Given the description of an element on the screen output the (x, y) to click on. 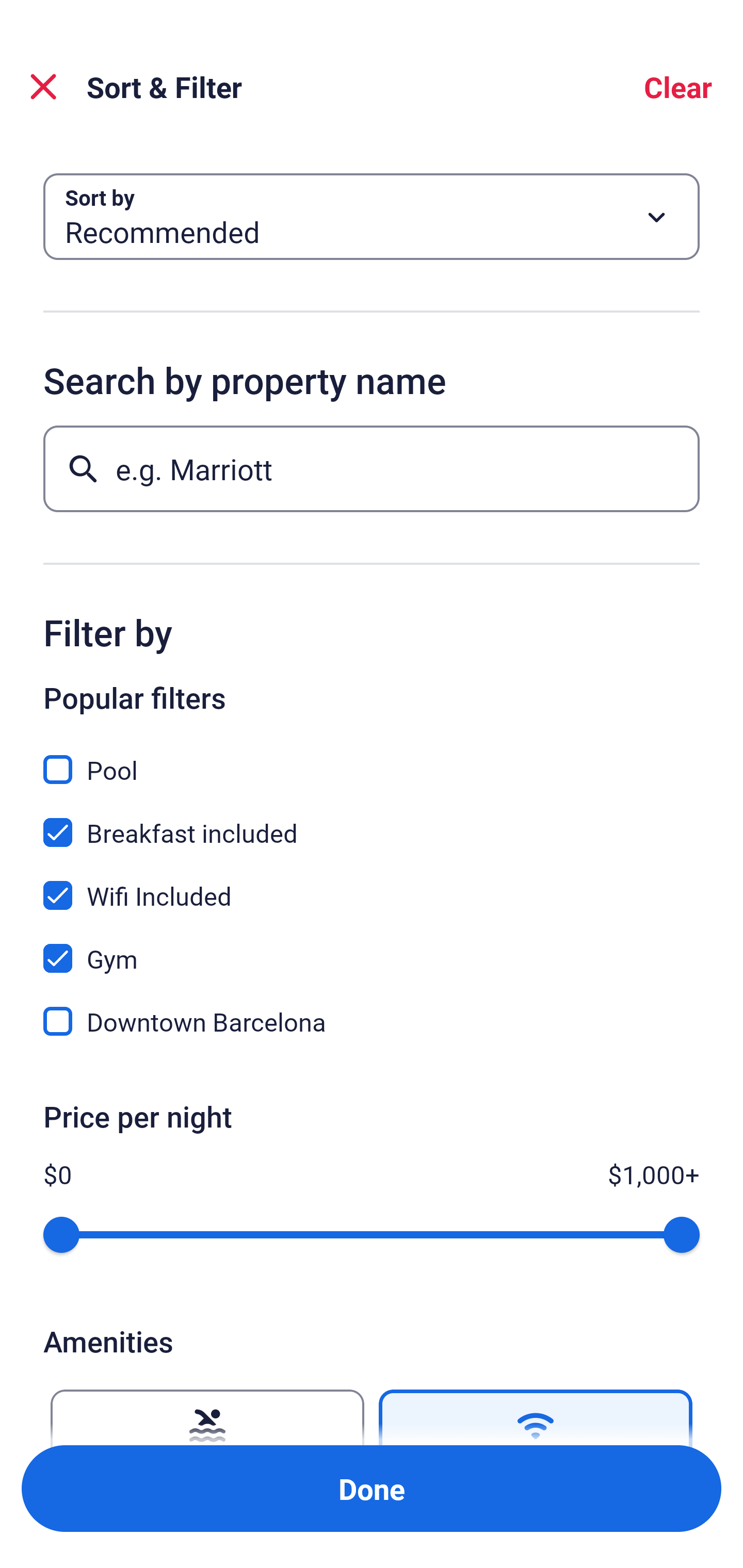
Close Sort and Filter (43, 86)
Clear (677, 86)
Sort by Button Recommended (371, 217)
e.g. Marriott Button (371, 468)
Pool, Pool (371, 757)
Breakfast included, Breakfast included (371, 821)
Wifi Included, Wifi Included (371, 883)
Gym, Gym (371, 946)
Downtown Barcelona, Downtown Barcelona (371, 1021)
Apply and close Sort and Filter Done (371, 1488)
